Given the description of an element on the screen output the (x, y) to click on. 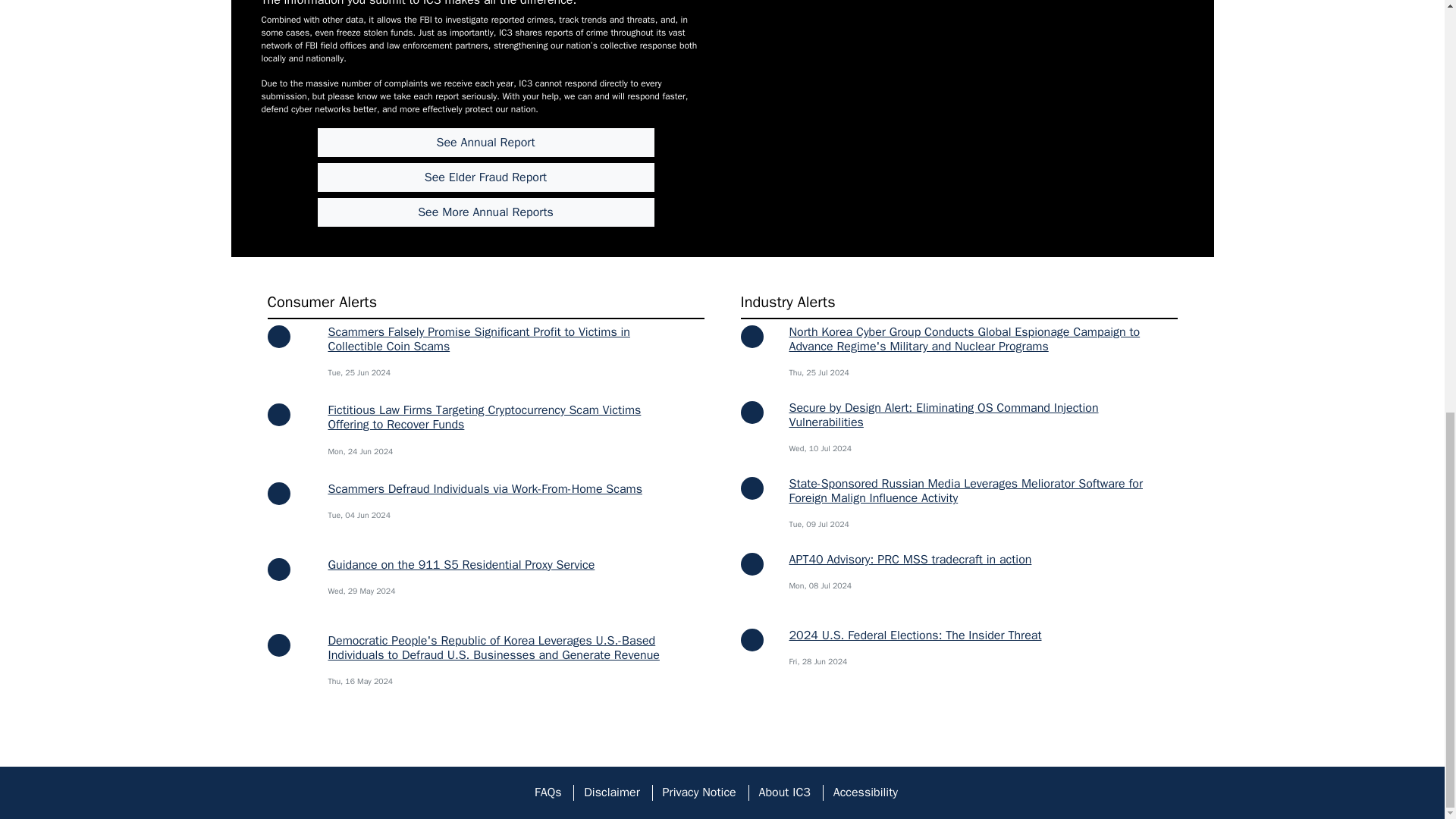
bullet (277, 414)
See More Annual Reports (485, 212)
bullet (750, 487)
APT40 Advisory: PRC MSS tradecraft in action (909, 559)
bullet (277, 493)
bullet (750, 563)
FAQs (547, 792)
2024 U.S. Federal Elections: The Insider Threat (915, 635)
About IC3 (783, 792)
See Elder Fraud Report (485, 176)
